Given the description of an element on the screen output the (x, y) to click on. 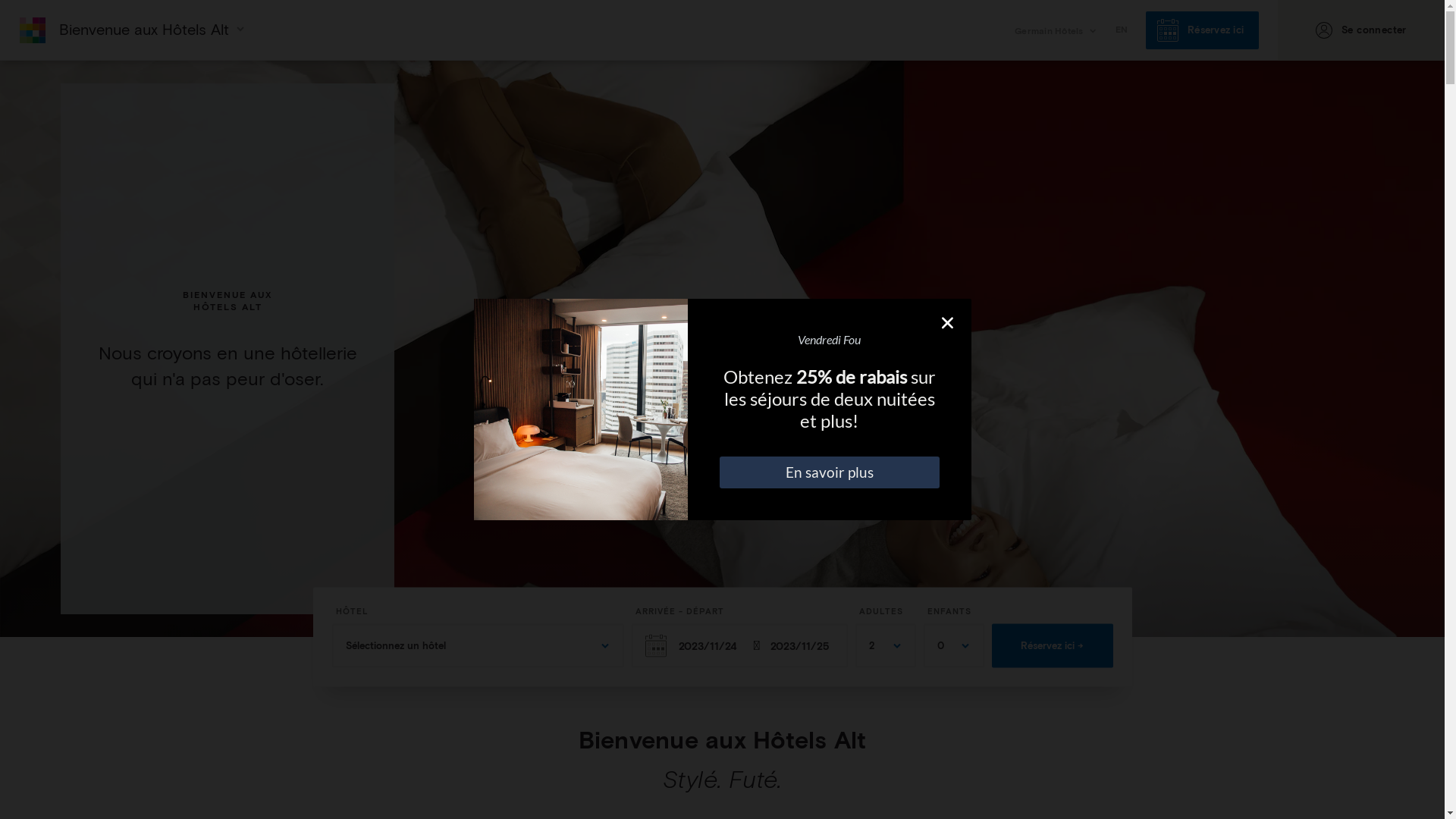
EN Element type: text (1120, 29)
Se connecter Element type: text (1360, 30)
